Given the description of an element on the screen output the (x, y) to click on. 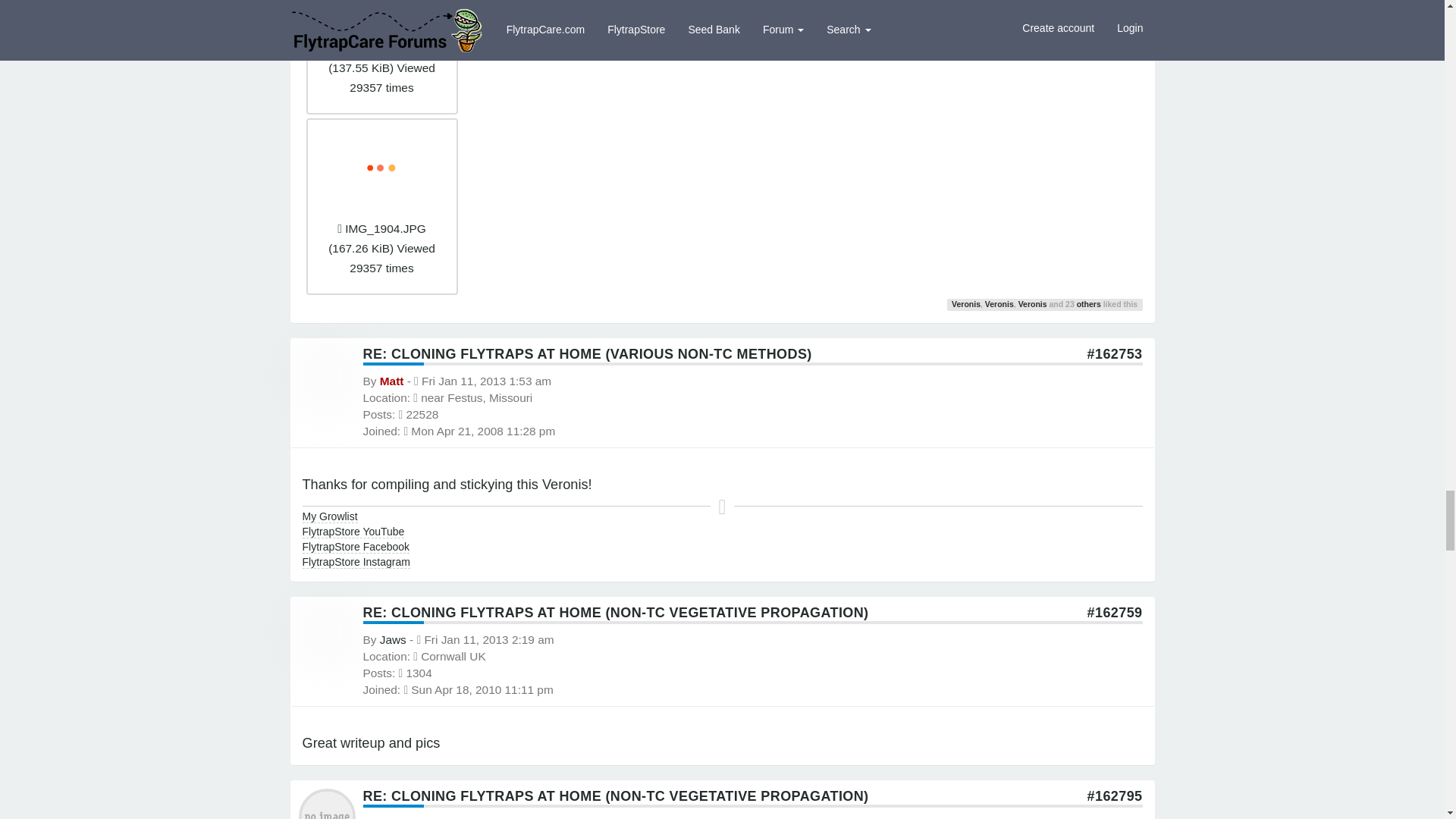
User mini profile (326, 814)
Post (1114, 612)
User mini profile (326, 373)
User mini profile (326, 633)
Post (1114, 353)
